Given the description of an element on the screen output the (x, y) to click on. 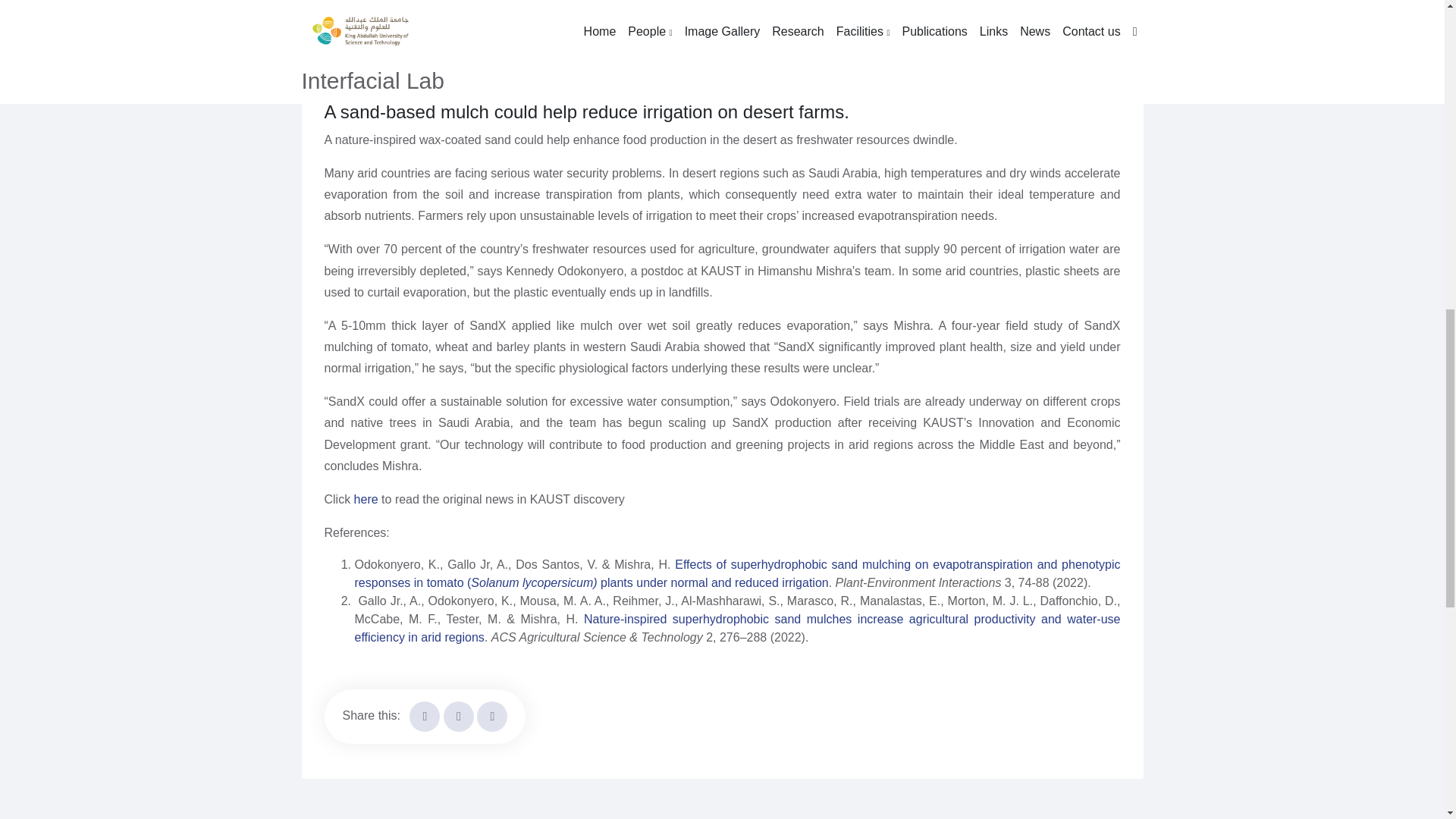
here (365, 499)
